Given the description of an element on the screen output the (x, y) to click on. 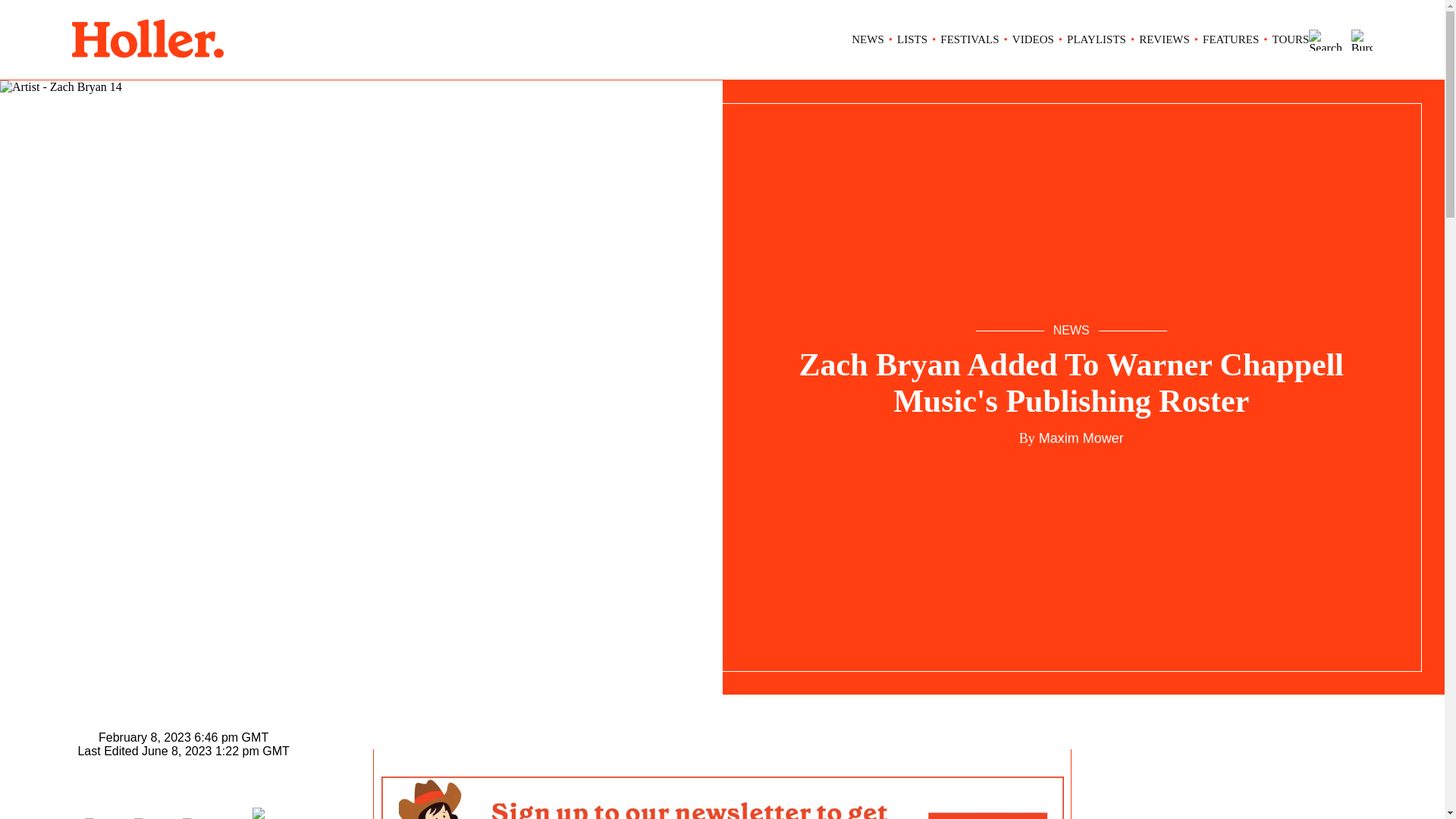
LISTS (911, 39)
FEATURES (1230, 39)
REVIEWS (1163, 39)
NEWS (867, 39)
Maxim Mower (1079, 437)
VIDEOS (1032, 39)
FESTIVALS (969, 39)
TOURS (1290, 39)
PLAYLISTS (1096, 39)
